Given the description of an element on the screen output the (x, y) to click on. 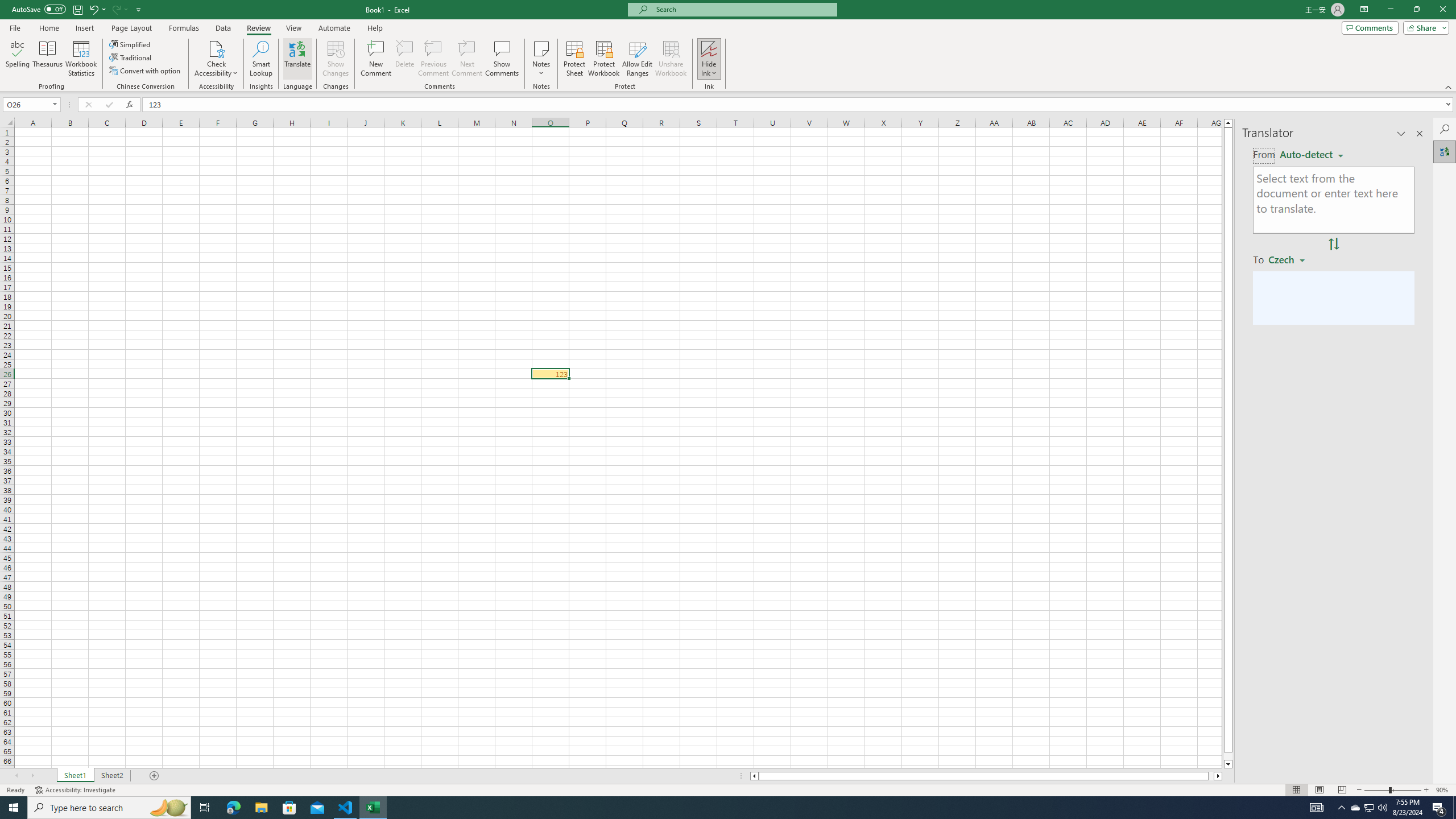
Translator (1444, 151)
Protect Workbook... (603, 58)
Accessibility Checker Accessibility: Investigate (76, 790)
